Given the description of an element on the screen output the (x, y) to click on. 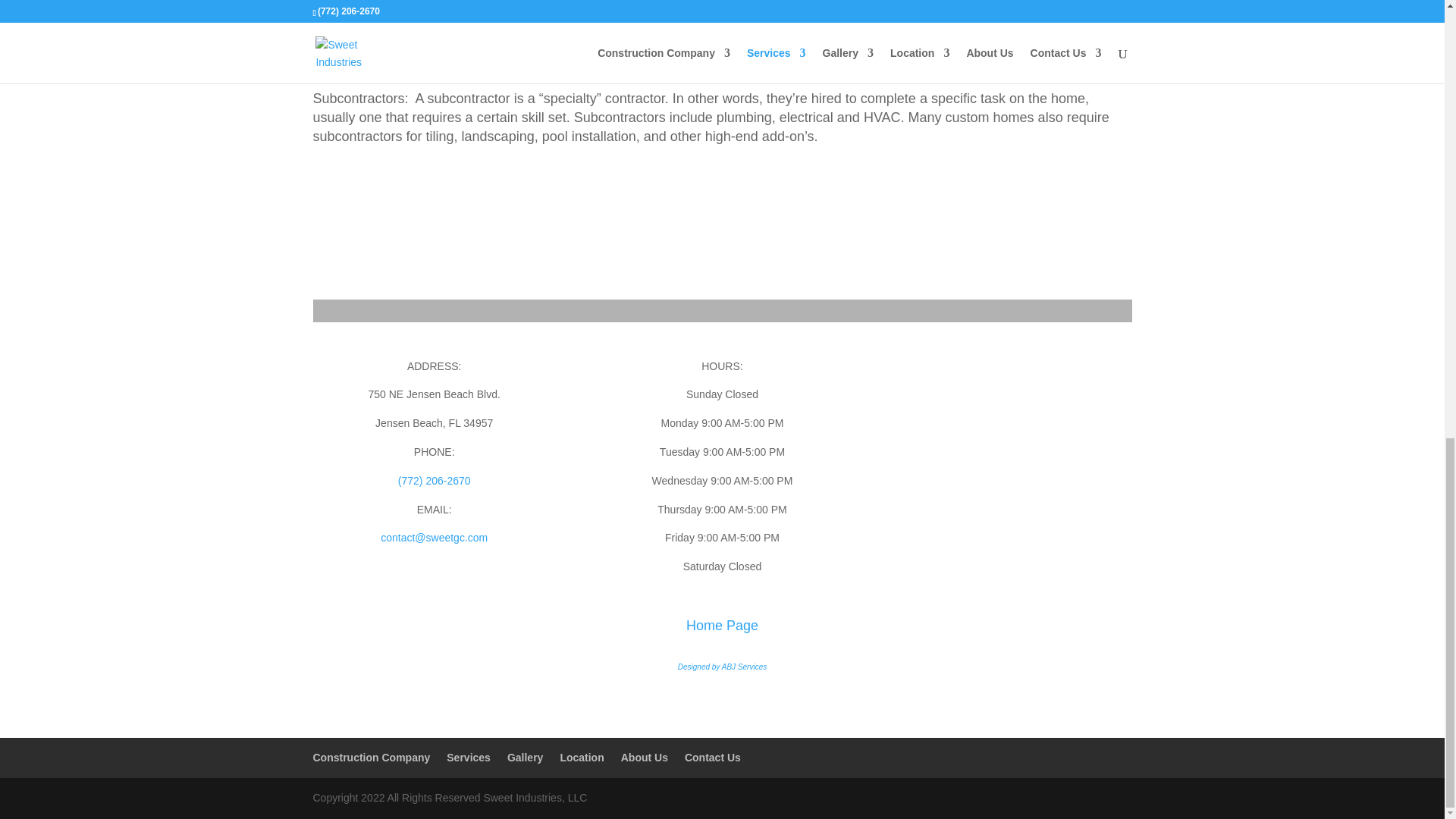
Home Page (721, 625)
